Given the description of an element on the screen output the (x, y) to click on. 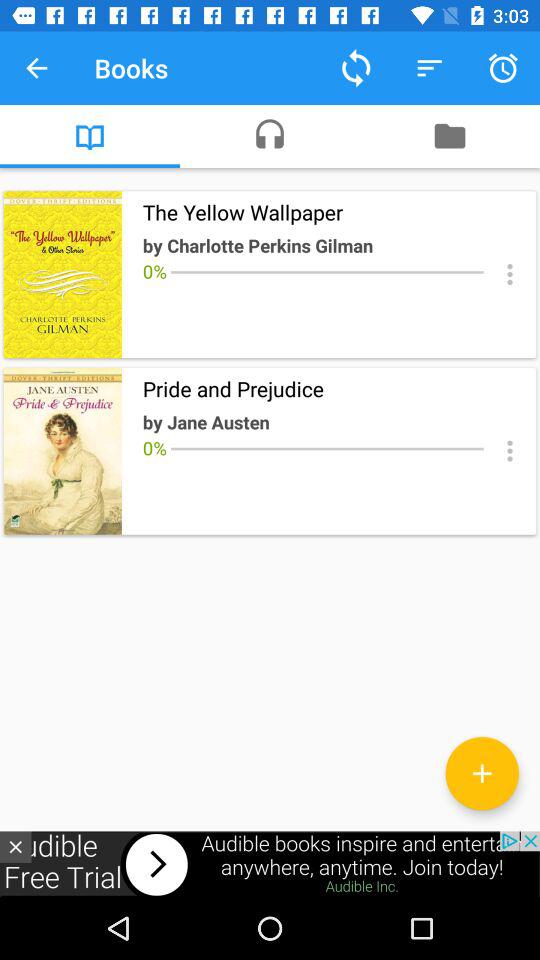
open advertisement (270, 864)
